Given the description of an element on the screen output the (x, y) to click on. 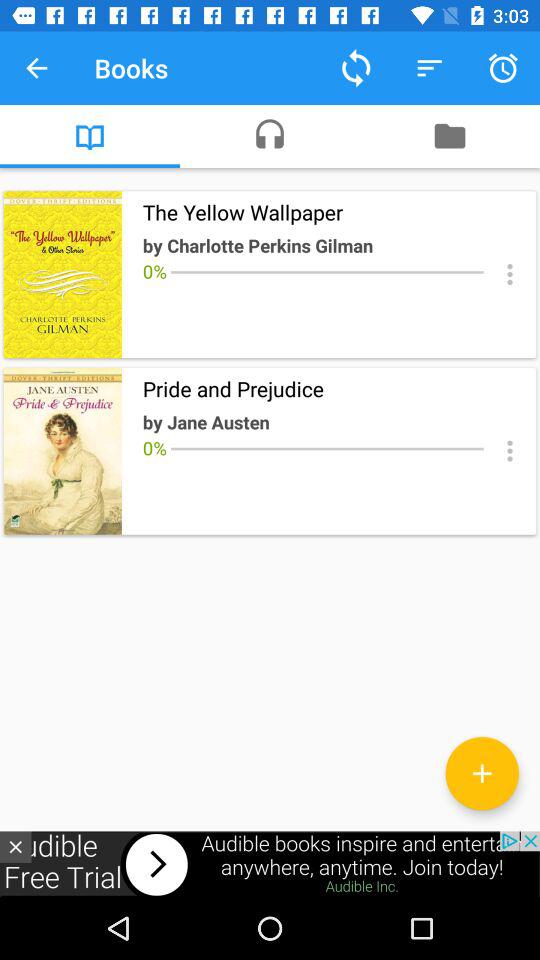
open advertisement (270, 864)
